Given the description of an element on the screen output the (x, y) to click on. 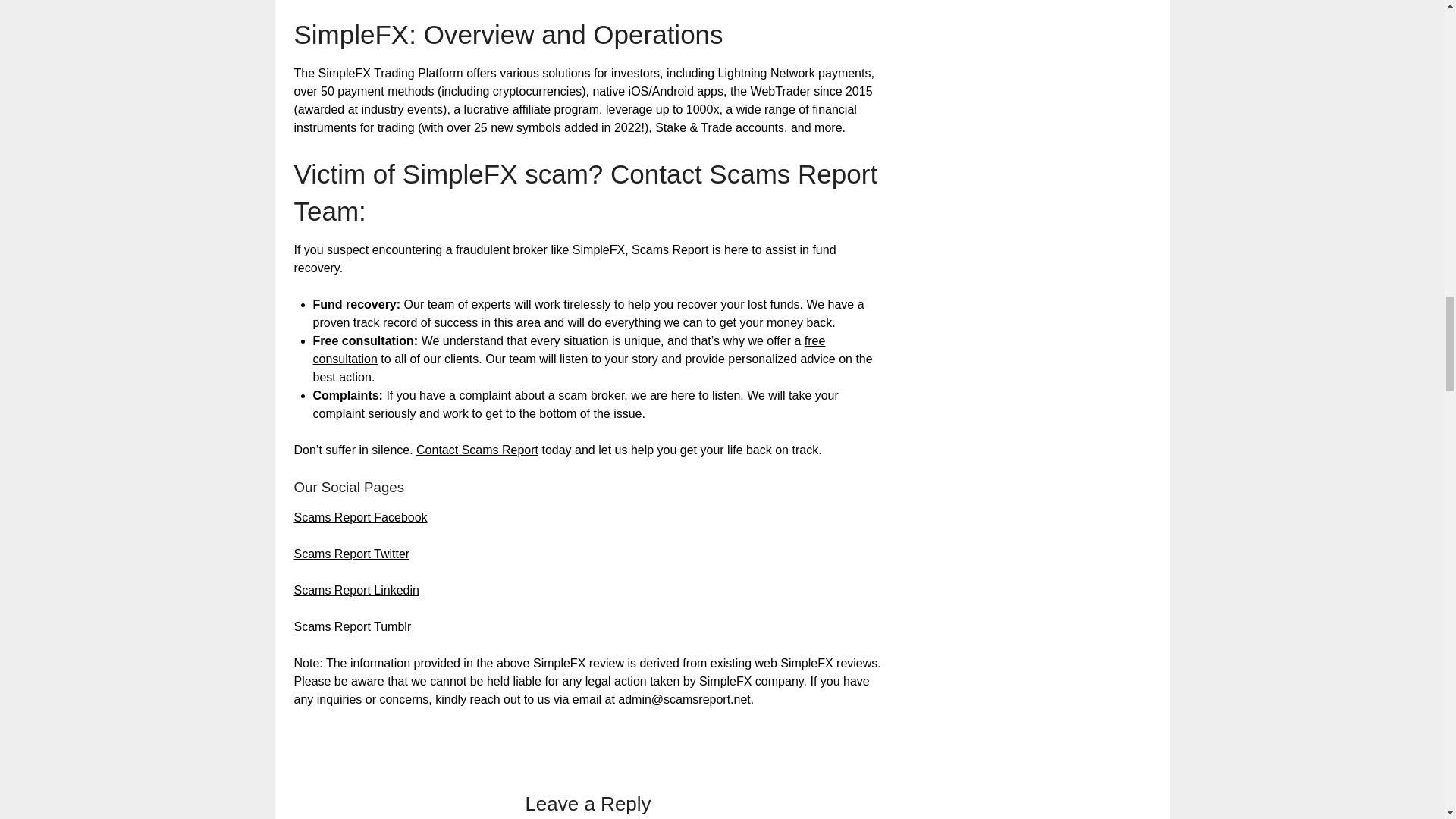
Contact Scams Report (477, 449)
Scams Report Linkedin (356, 590)
Scams Report Twitter (352, 553)
Scams Report Facebook (361, 517)
Scams Report Tumblr (353, 626)
free consultation (569, 349)
